Given the description of an element on the screen output the (x, y) to click on. 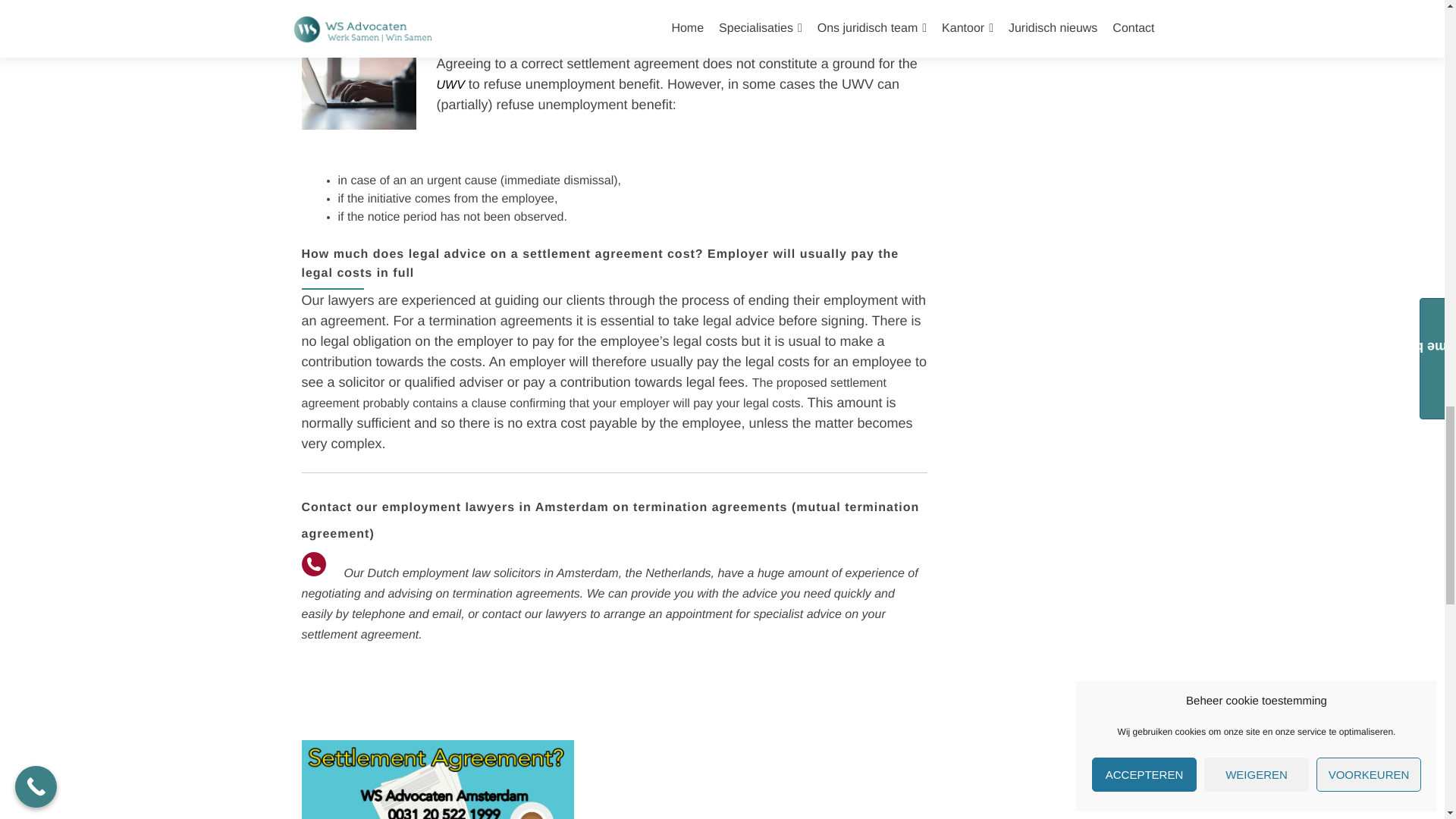
mutual termination agreement (610, 520)
redundancy netherlands (346, 35)
